Given the description of an element on the screen output the (x, y) to click on. 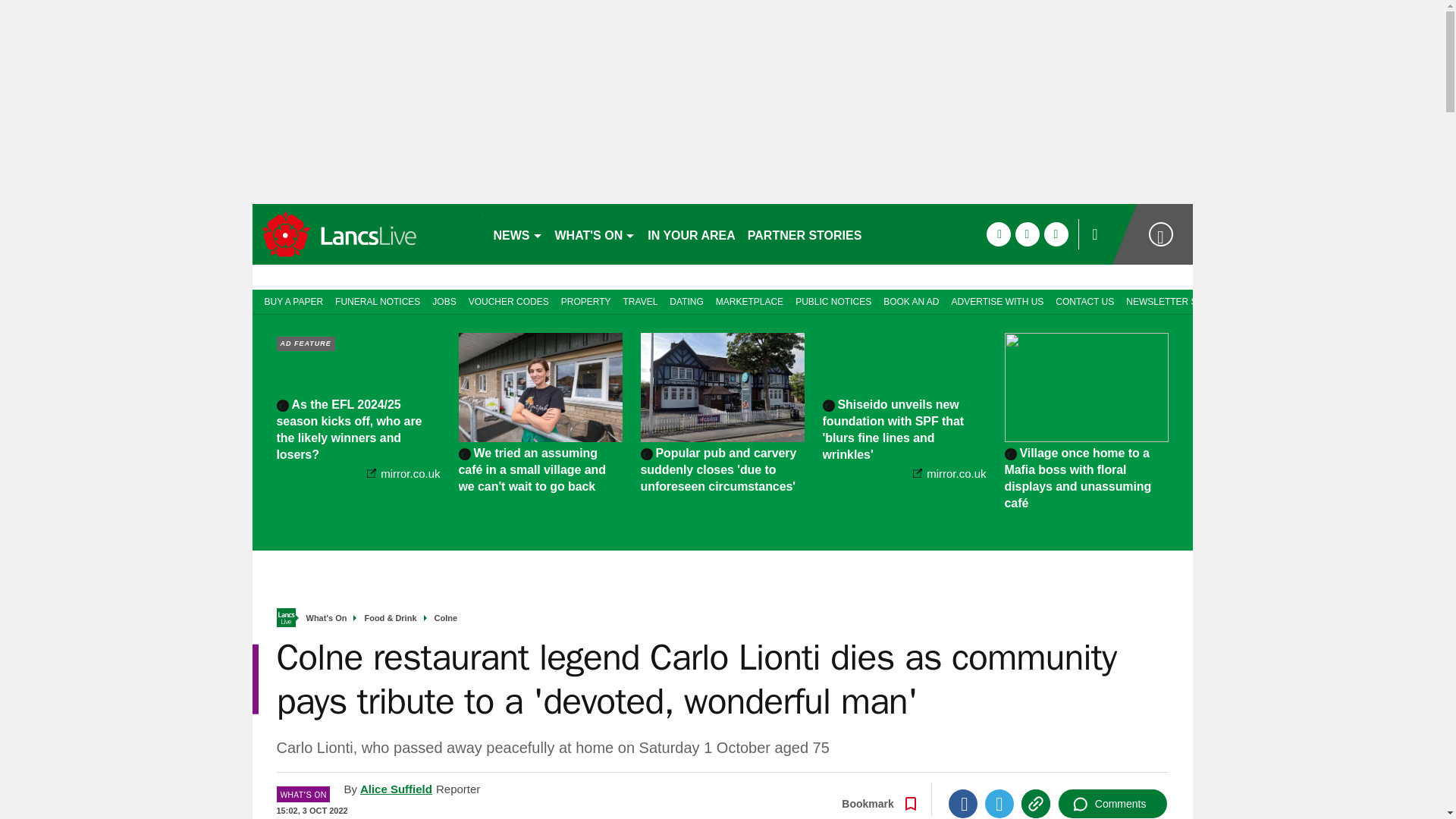
Twitter (999, 803)
Comments (1112, 803)
Facebook (962, 803)
VOUCHER CODES (508, 300)
DATING (686, 300)
PUBLIC NOTICES (833, 300)
PARTNER STORIES (804, 233)
WHAT'S ON (595, 233)
instagram (1055, 233)
FUNERAL NOTICES (377, 300)
